Given the description of an element on the screen output the (x, y) to click on. 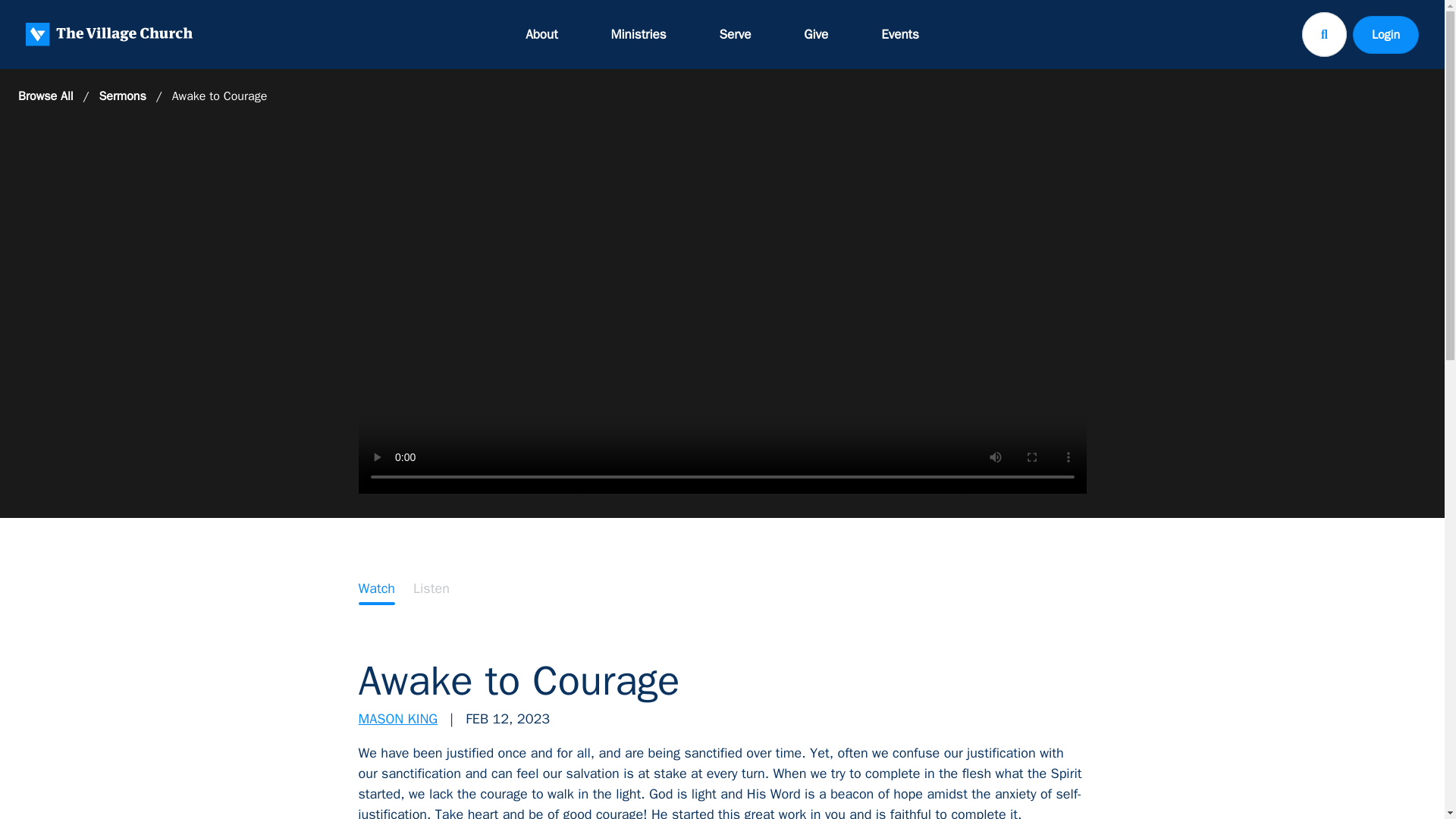
Give (815, 34)
About (541, 34)
Events (899, 34)
Serve (735, 34)
Login (1385, 34)
Browse All (45, 96)
Sermons (122, 96)
Ministries (638, 34)
